Given the description of an element on the screen output the (x, y) to click on. 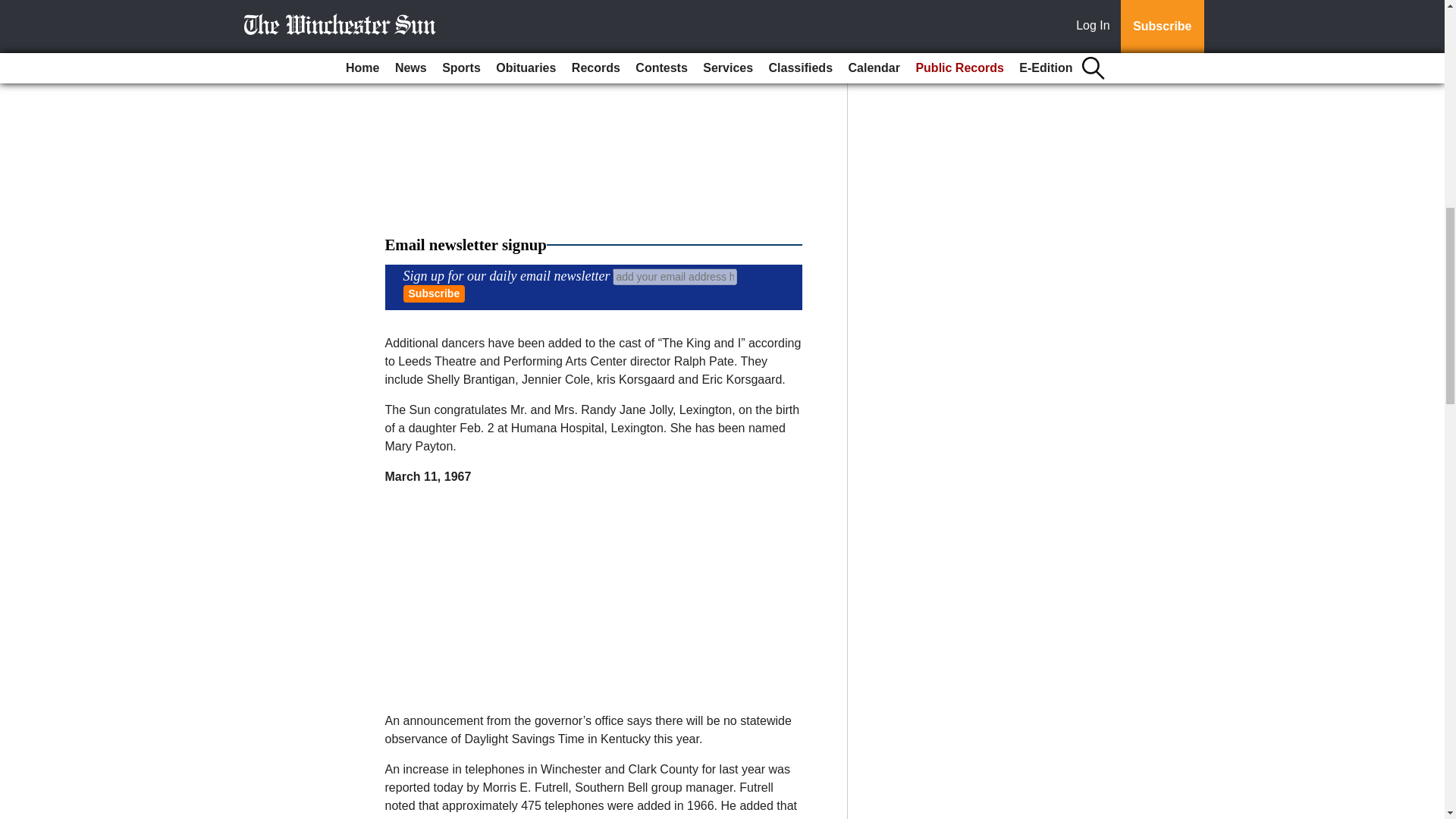
Subscribe (434, 293)
Subscribe (434, 293)
